Given the description of an element on the screen output the (x, y) to click on. 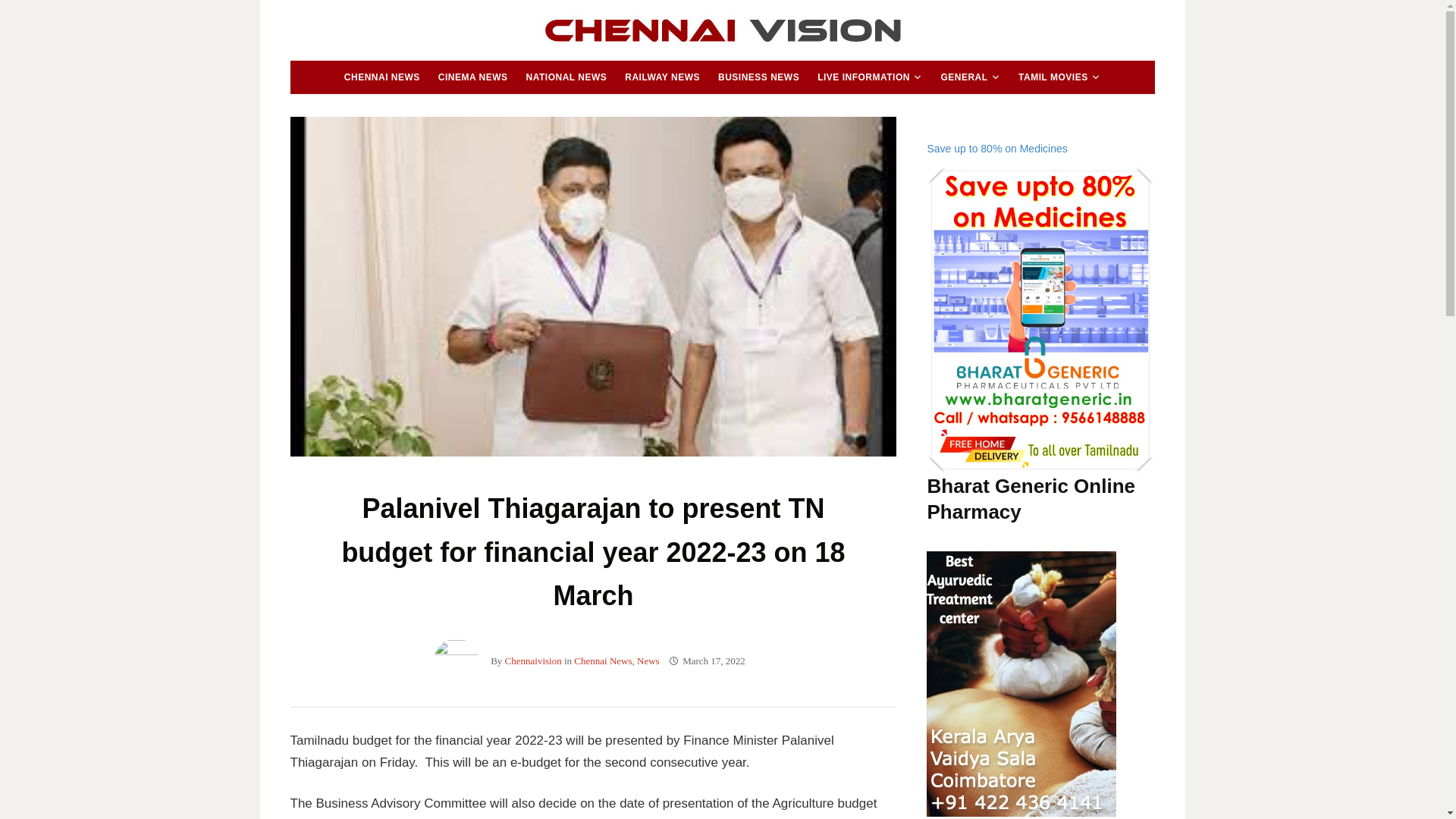
Posts by Chennaivision (533, 660)
